Given the description of an element on the screen output the (x, y) to click on. 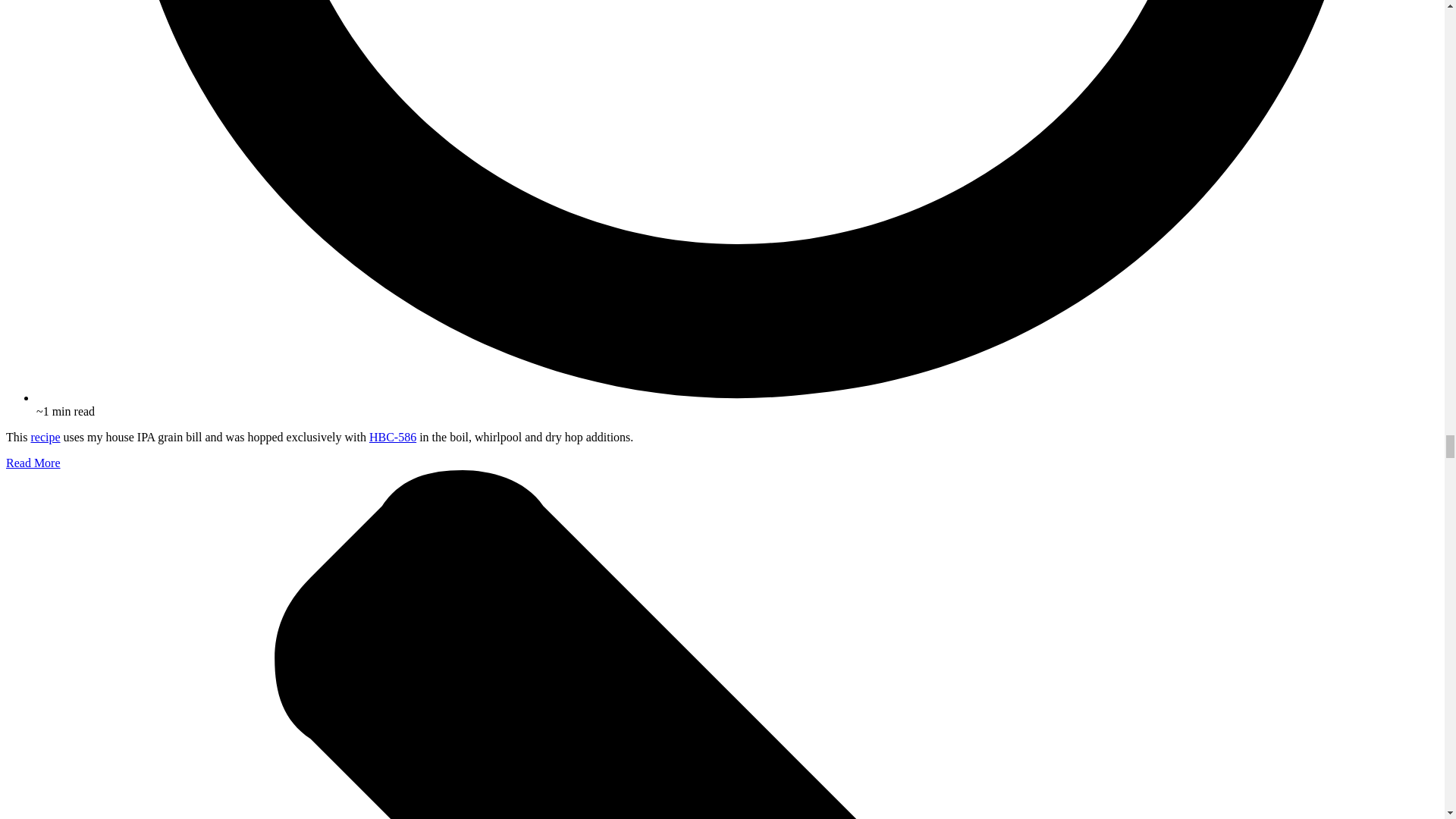
HBC-586 (392, 436)
recipe (44, 436)
